Given the description of an element on the screen output the (x, y) to click on. 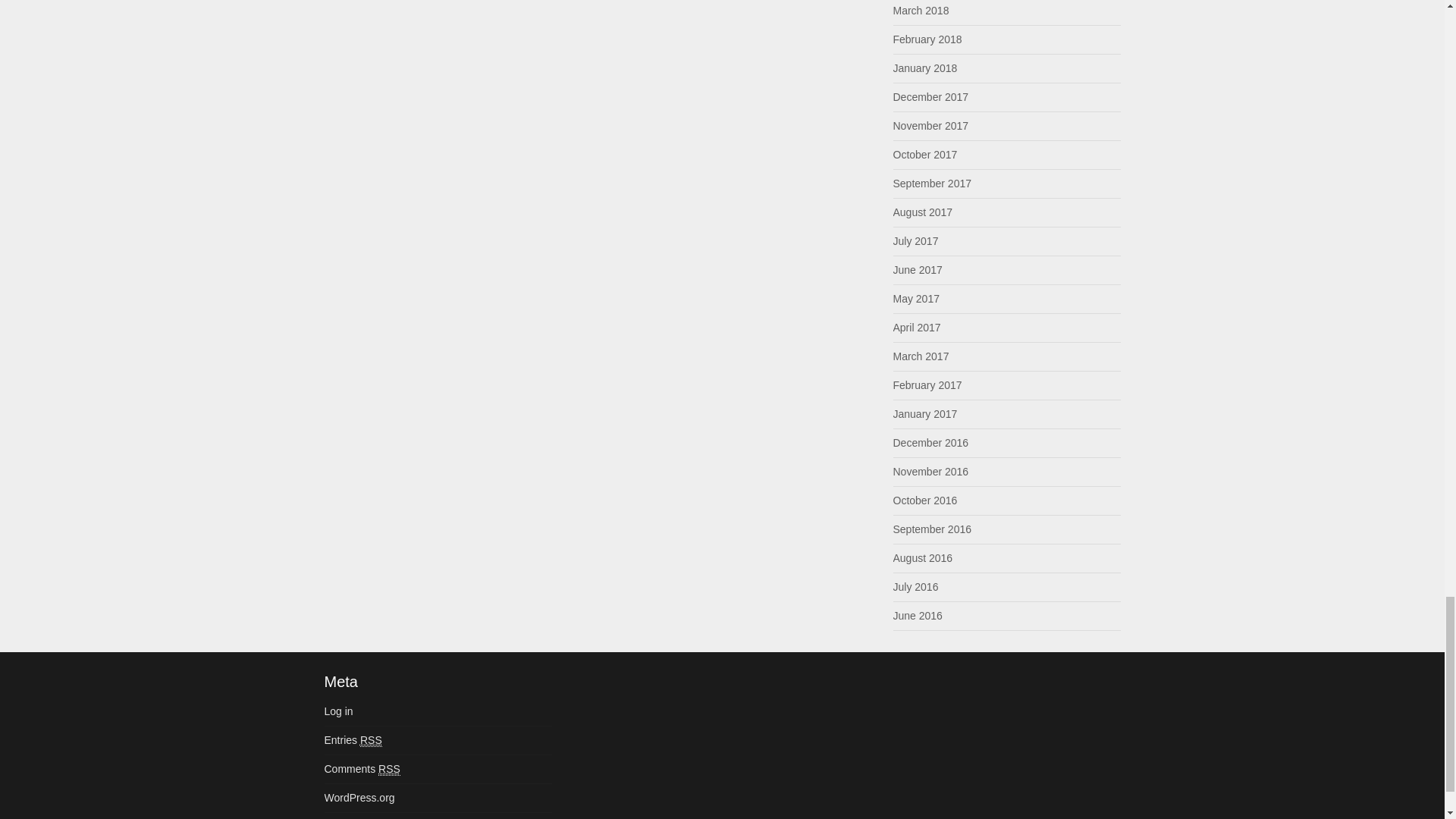
Really Simple Syndication (389, 768)
Really Simple Syndication (370, 739)
